Given the description of an element on the screen output the (x, y) to click on. 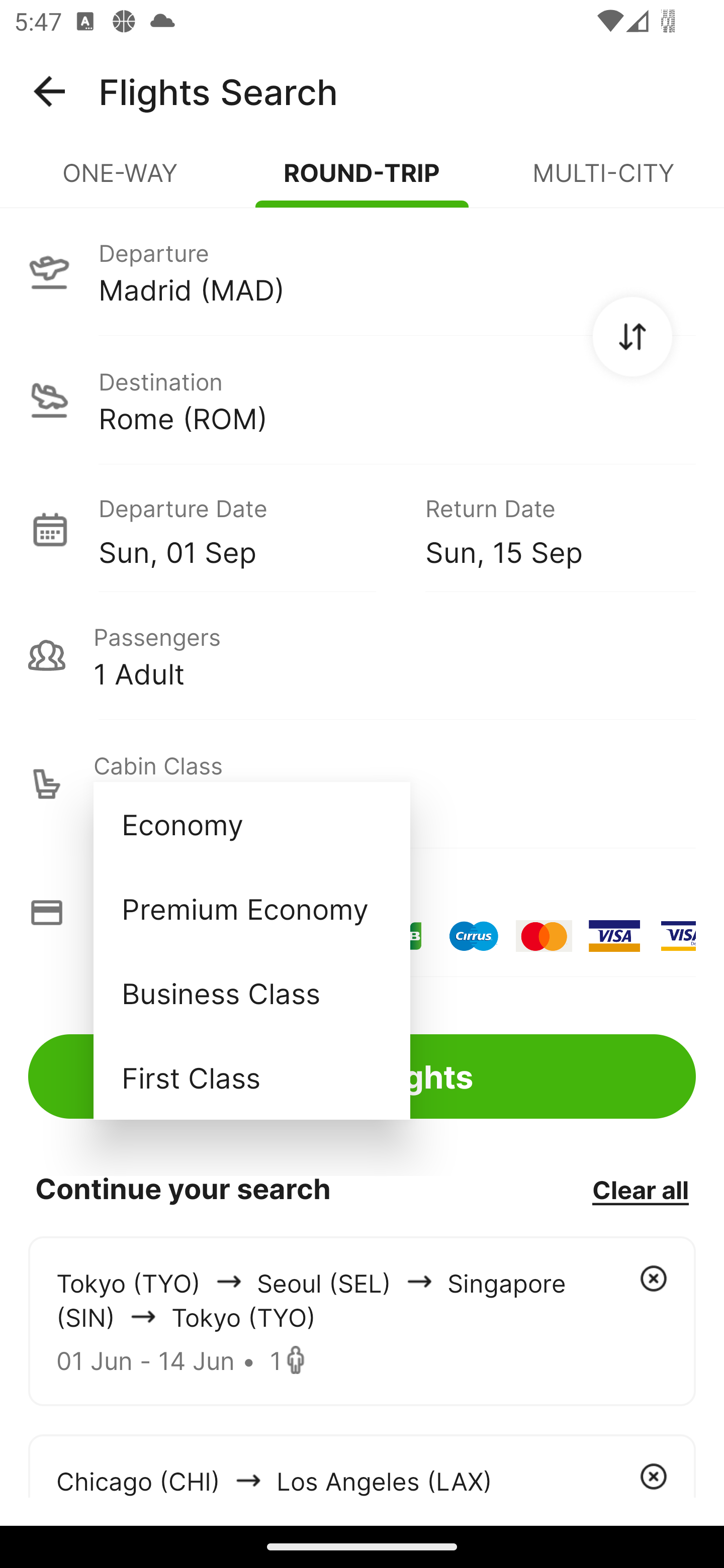
Economy (251, 824)
Premium Economy (251, 908)
Business Class (251, 992)
First Class (251, 1076)
